Given the description of an element on the screen output the (x, y) to click on. 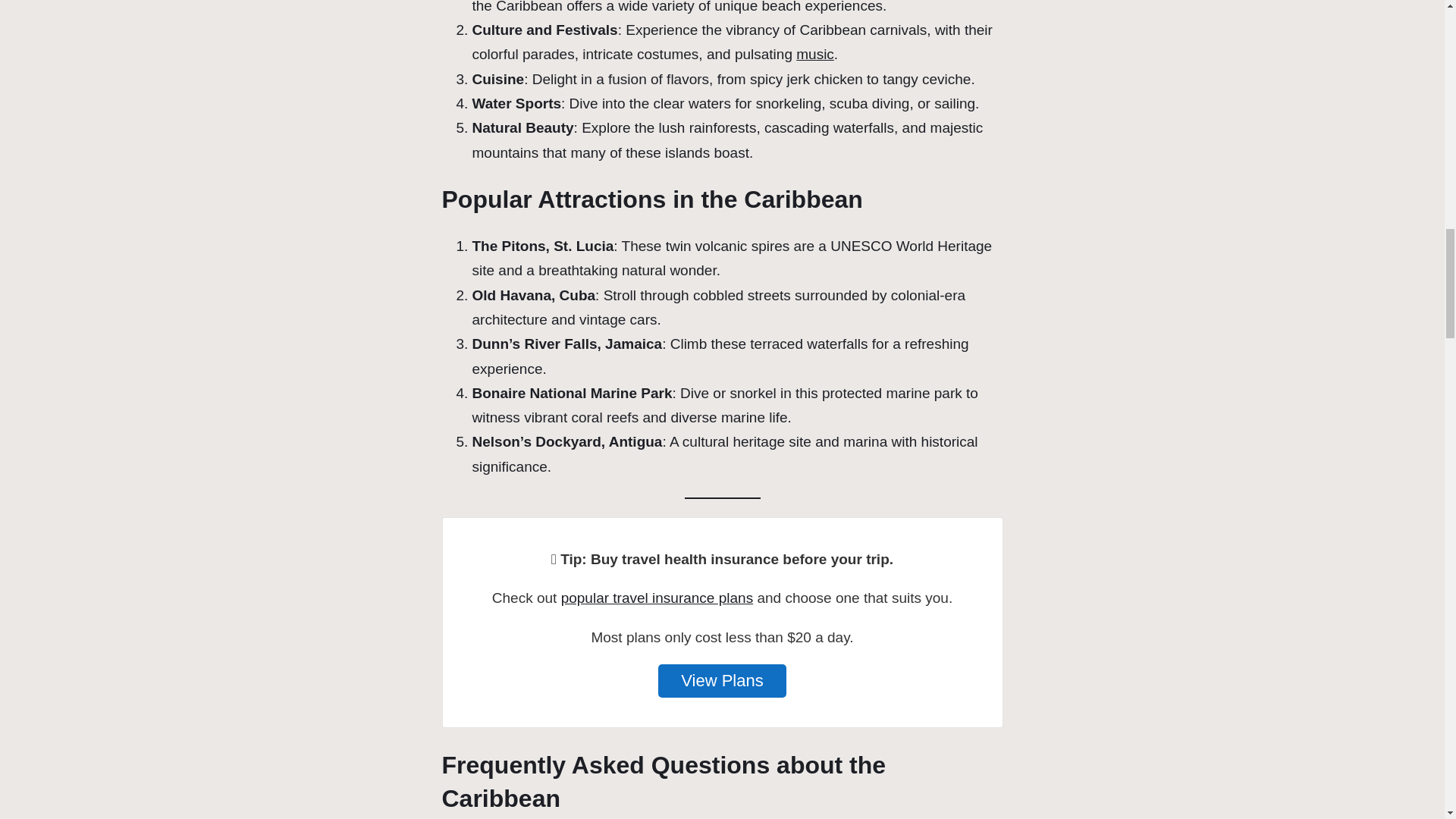
popular travel insurance plans (657, 597)
View Plans (722, 680)
music (815, 53)
